Given the description of an element on the screen output the (x, y) to click on. 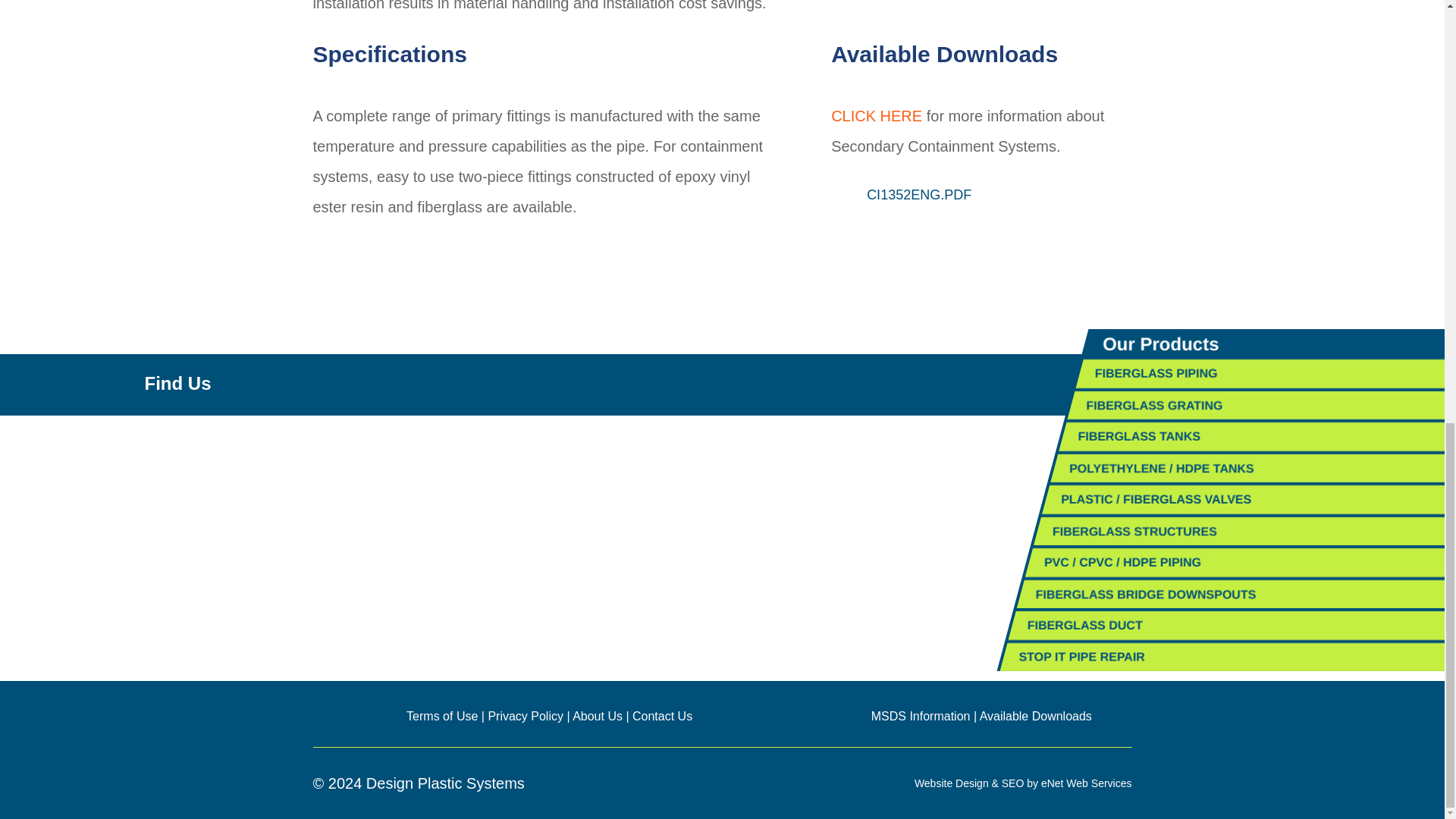
Terms of Use (441, 716)
About Us (597, 716)
Privacy Policy (525, 716)
MSDS Information (920, 716)
Contact Us (662, 716)
CLICK HERE (876, 115)
Available Downloads (1035, 716)
